Given the description of an element on the screen output the (x, y) to click on. 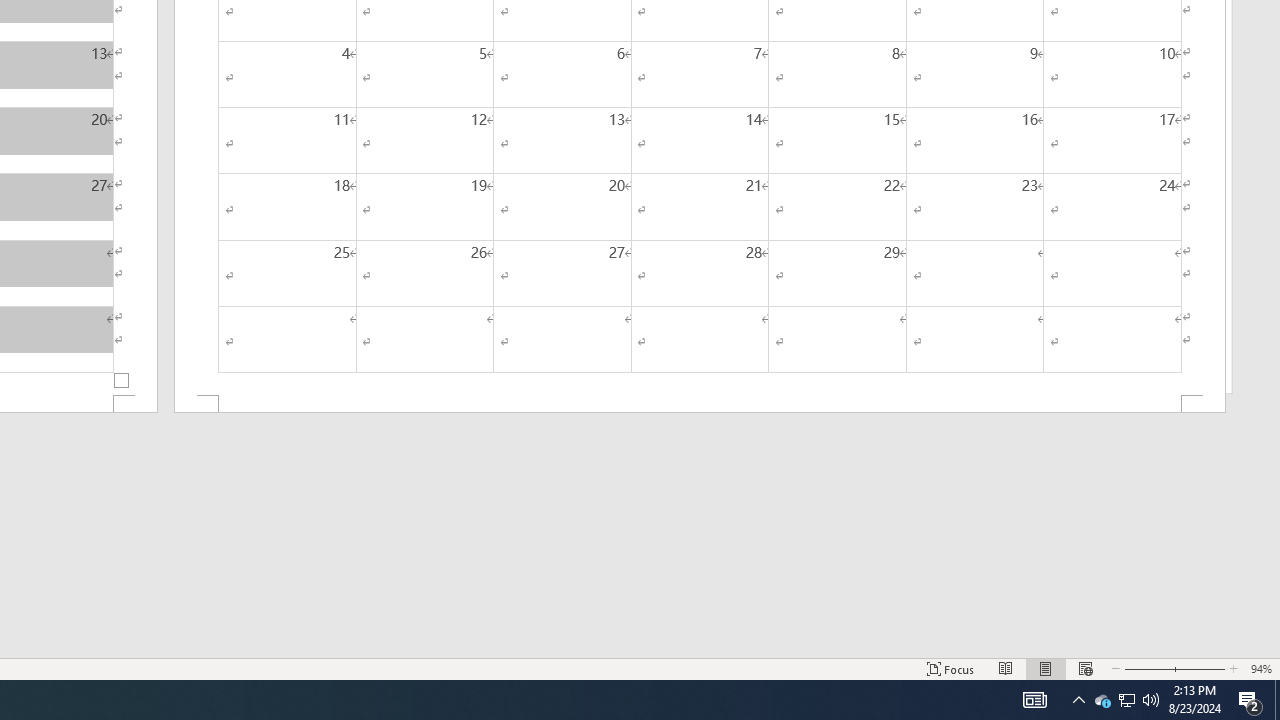
Footer -Section 2- (700, 404)
